Given the description of an element on the screen output the (x, y) to click on. 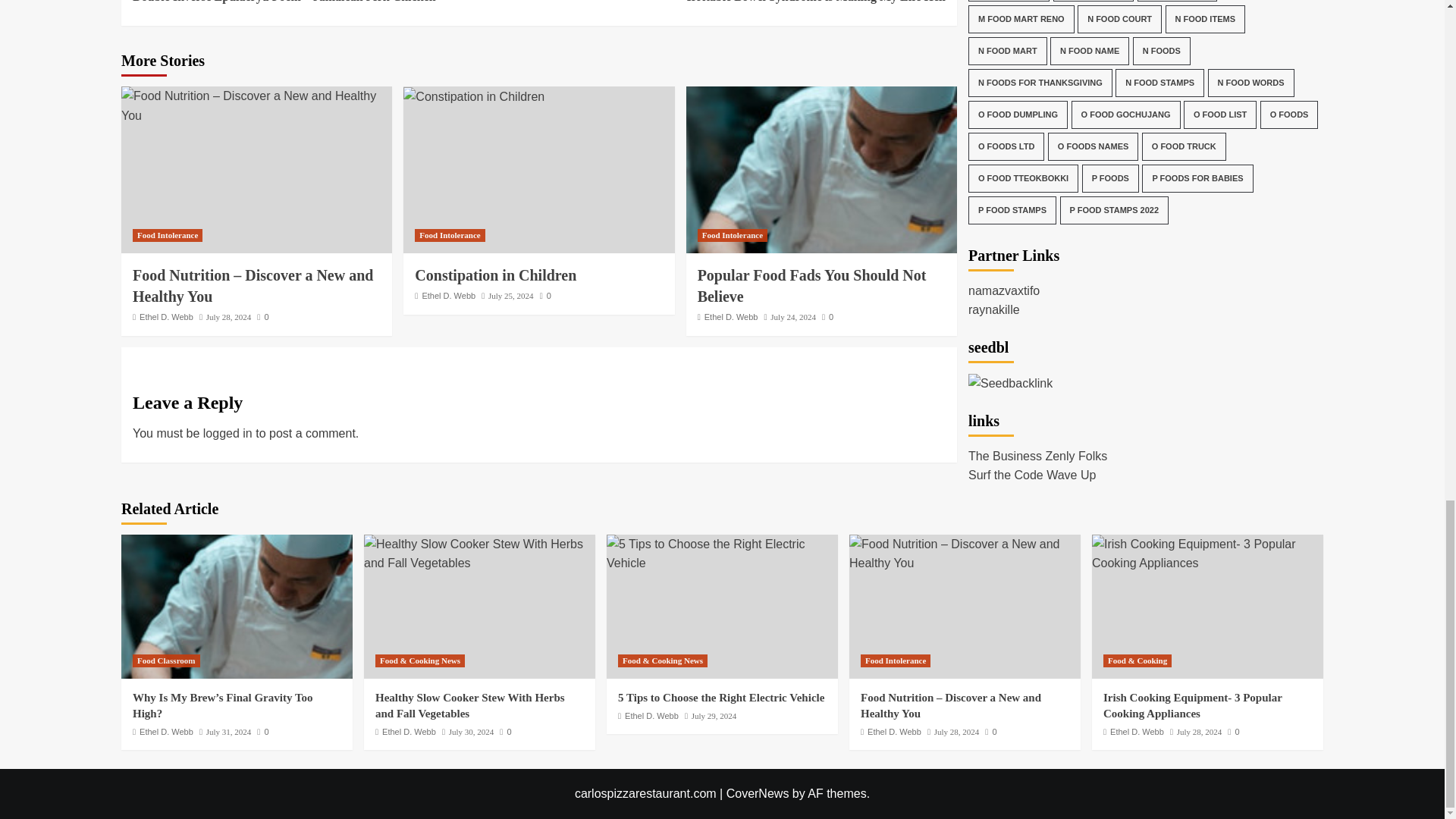
July 25, 2024 (510, 295)
Ethel D. Webb (449, 295)
Ethel D. Webb (731, 316)
0 (262, 316)
Food Intolerance (449, 235)
Food Intolerance (741, 3)
Constipation in Children (732, 235)
July 28, 2024 (495, 274)
Food Intolerance (228, 316)
All About Allergies: Homeopathic Allergies Treatment (167, 235)
All About Allergies: Homeopathic Allergies Treatment (236, 606)
Healthy Slow Cooker Stew With Herbs and Fall Vegetables (820, 169)
Seedbacklink (479, 553)
Popular Food Fads You Should Not Believe (1010, 330)
